Given the description of an element on the screen output the (x, y) to click on. 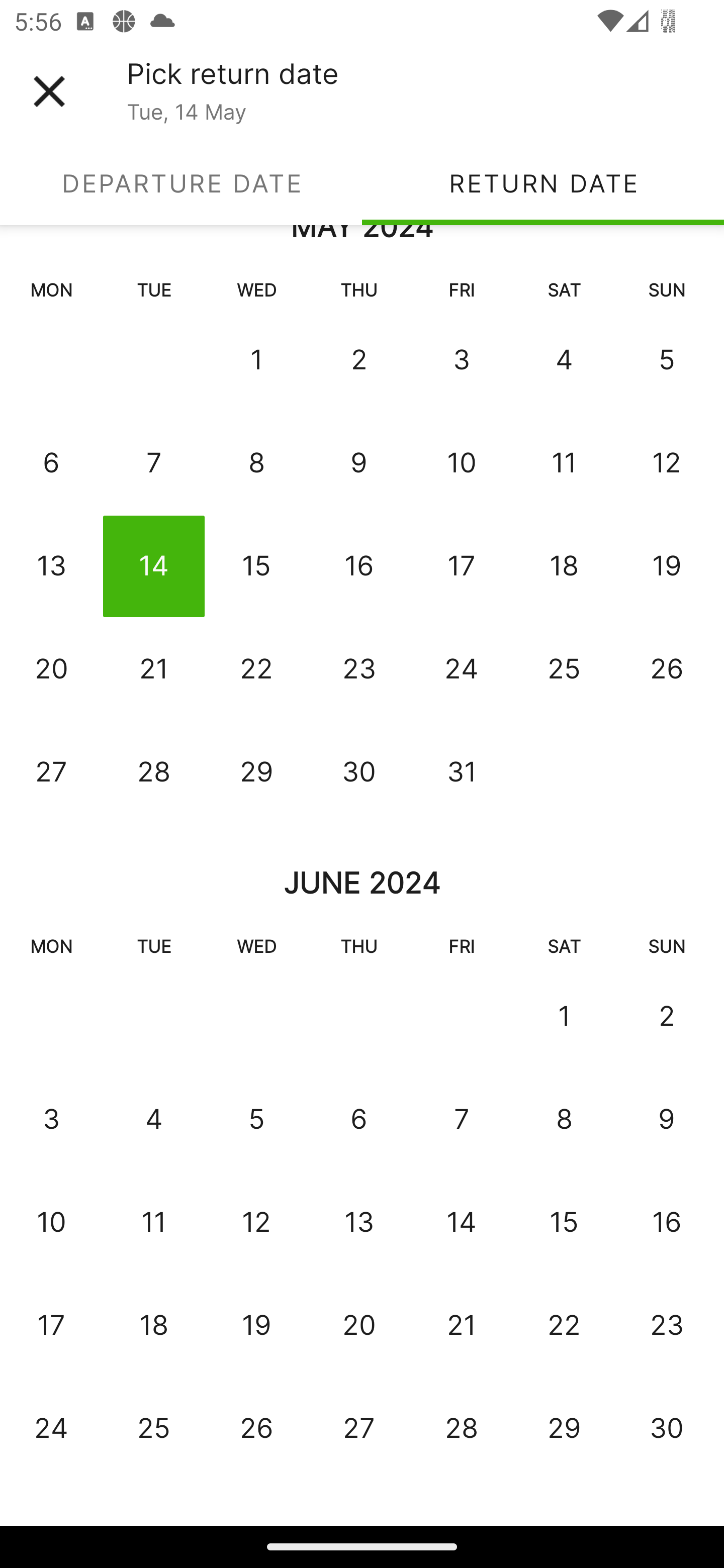
Departure Date DEPARTURE DATE (181, 183)
